Given the description of an element on the screen output the (x, y) to click on. 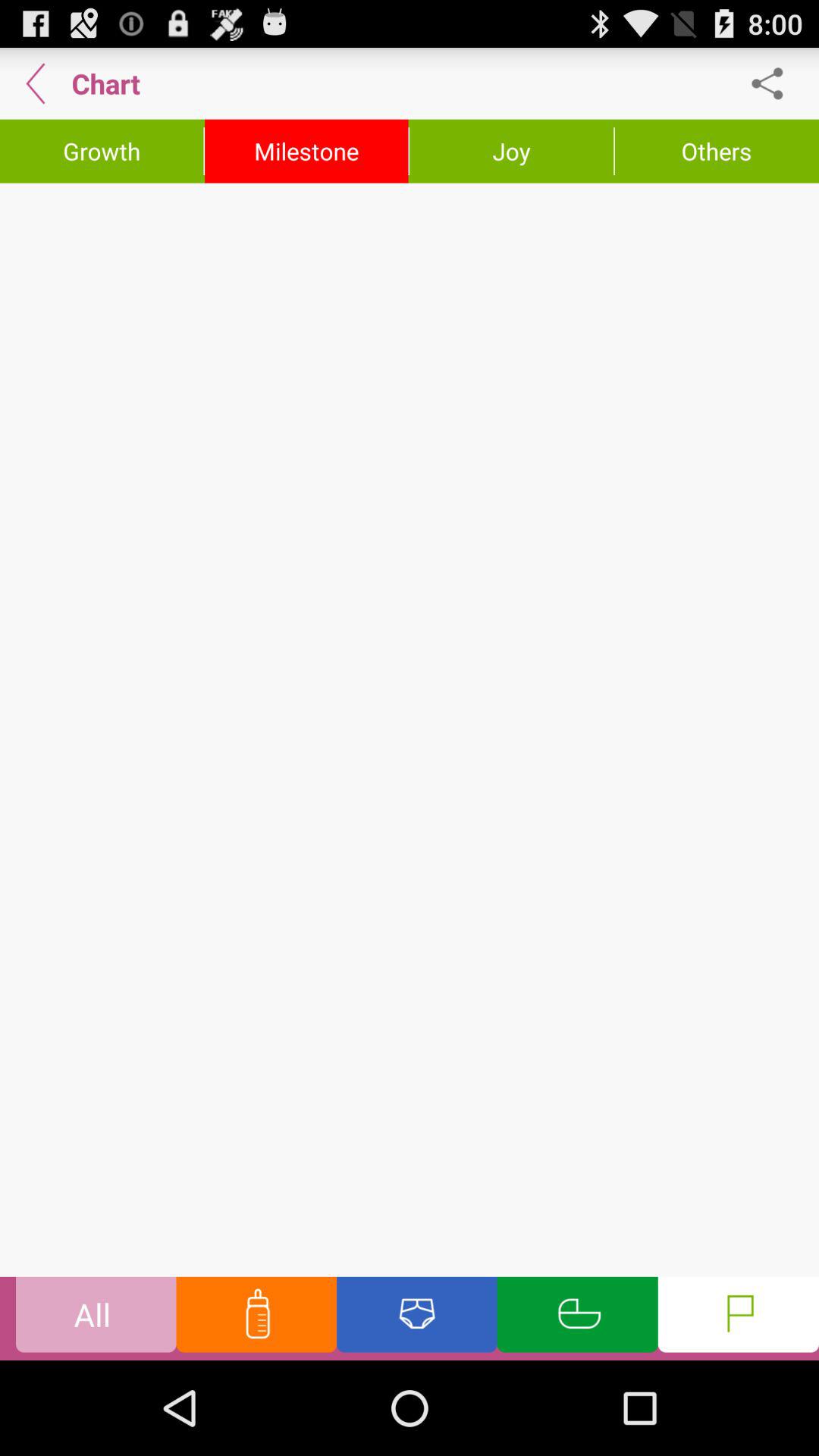
click on flag icon at the bottom (738, 1317)
click on the option which is green in color in the bottom (577, 1317)
go to milestone (306, 151)
click on joy (511, 151)
